Given the description of an element on the screen output the (x, y) to click on. 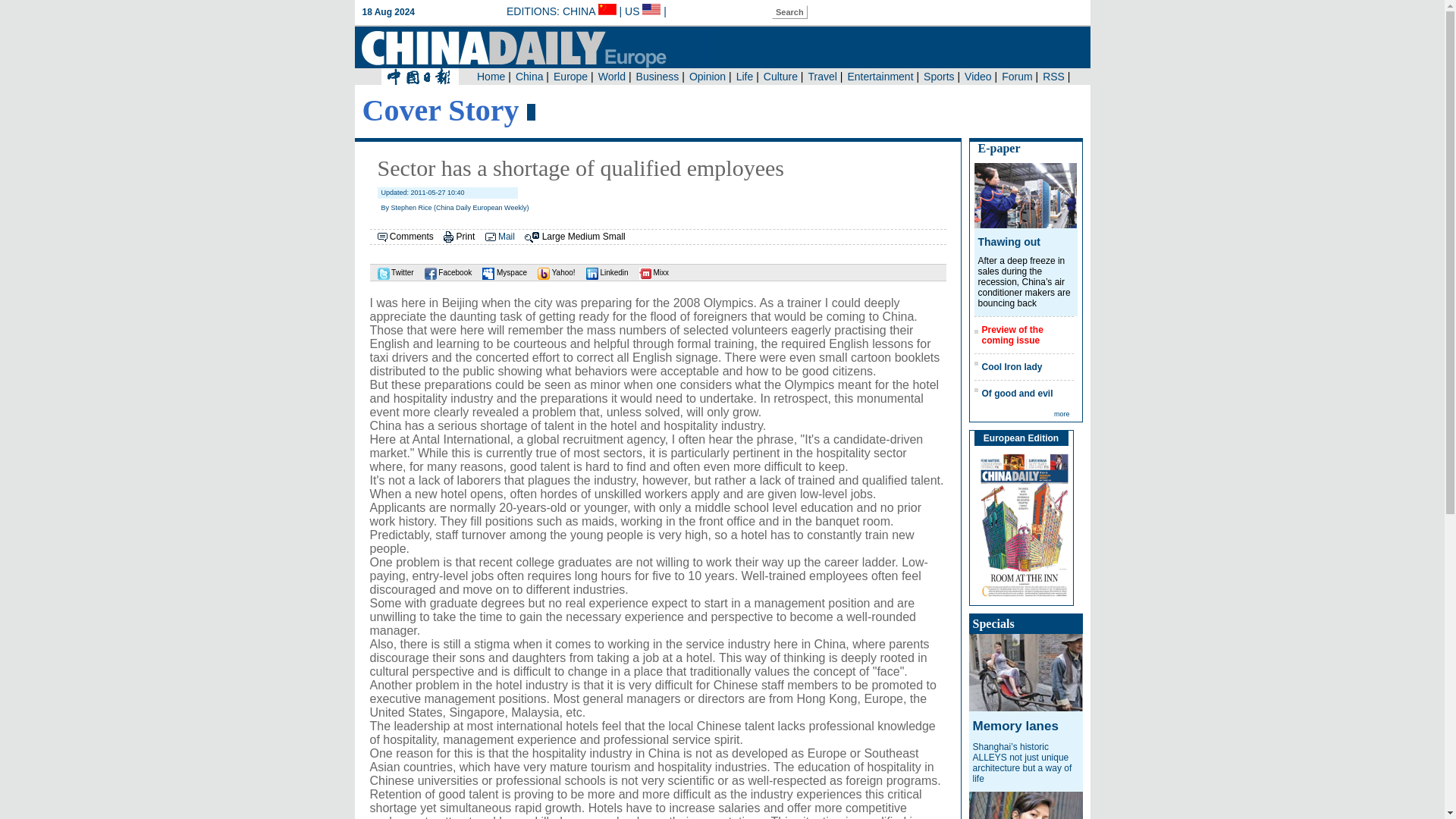
Large (553, 235)
Share to Facebook (443, 272)
Mixx (649, 272)
Of good and evil (1016, 393)
Medium (583, 235)
Linkedin (603, 272)
Small (614, 235)
Preview of the coming issue (1011, 334)
Share to Linkedin (603, 272)
Myspace (500, 272)
